Given the description of an element on the screen output the (x, y) to click on. 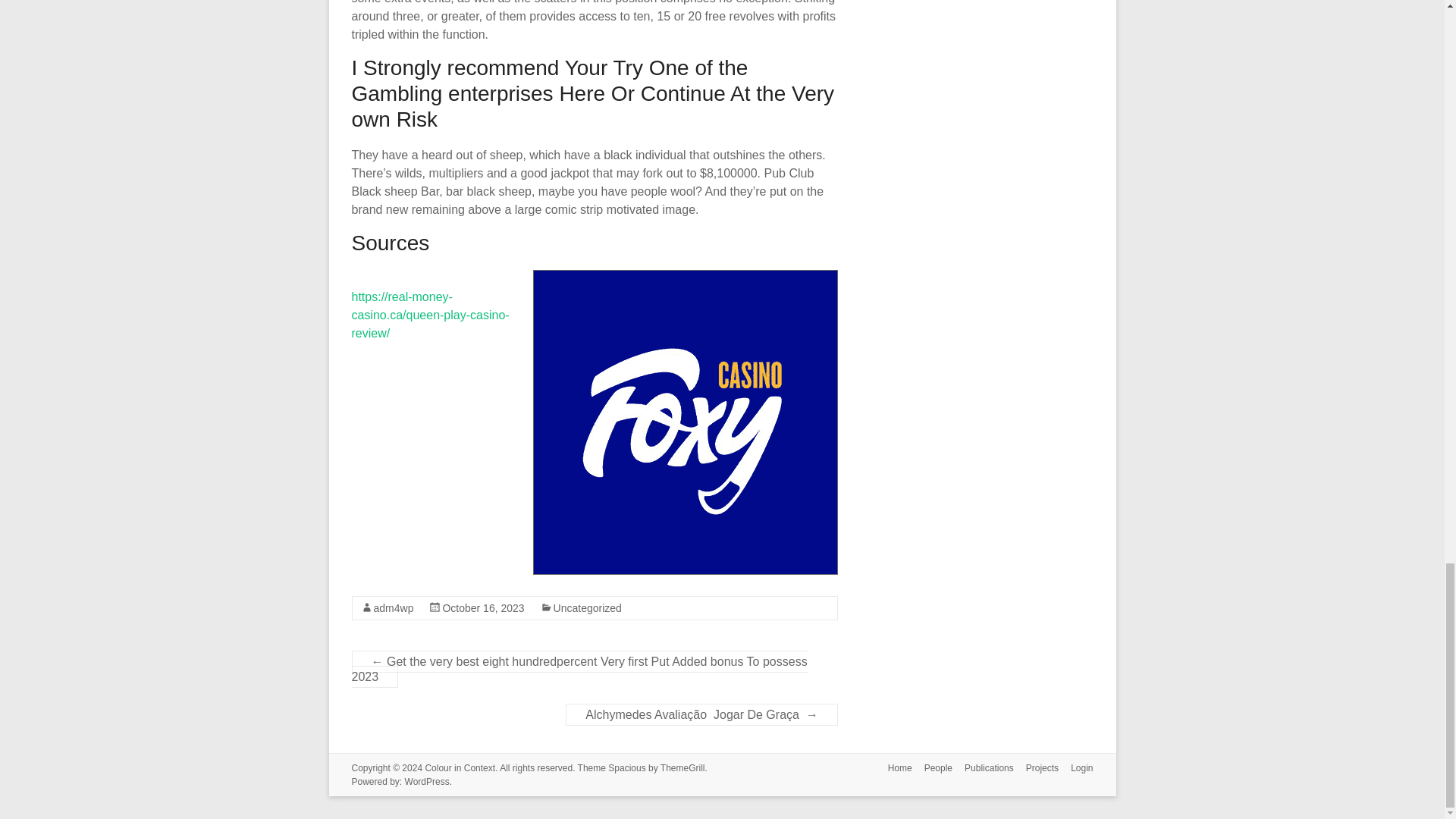
Colour in Context (460, 767)
Publications (982, 769)
WordPress (426, 781)
October 16, 2023 (483, 607)
Colour in Context (460, 767)
Spacious (626, 767)
Uncategorized (587, 607)
Home (894, 769)
Projects (1035, 769)
adm4wp (392, 607)
People (932, 769)
Spacious (626, 767)
WordPress (426, 781)
Login (1075, 769)
12:26 am (483, 607)
